Given the description of an element on the screen output the (x, y) to click on. 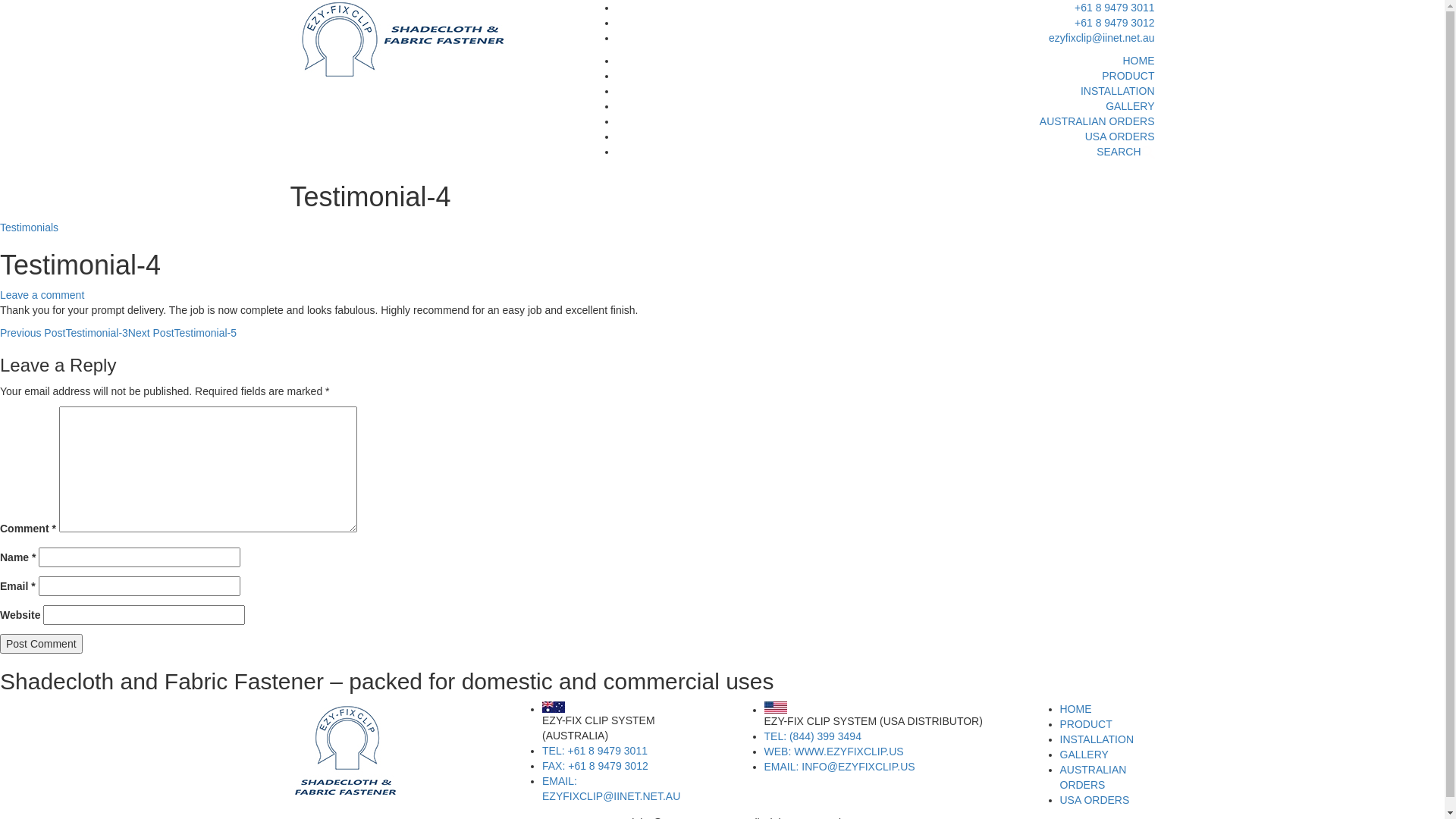
AUSTRALIAN ORDERS Element type: text (1096, 121)
PRODUCT Element type: text (1086, 724)
INSTALLATION Element type: text (1097, 739)
SEARCH Element type: text (1125, 151)
TEL: (844) 399 3494 Element type: text (812, 736)
INSTALLATION Element type: text (1117, 90)
HOME Element type: text (1076, 708)
EMAIL: EZYFIXCLIP@IINET.NET.AU Element type: text (611, 788)
GALLERY Element type: text (1129, 106)
Post Comment Element type: text (41, 643)
Next PostTestimonial-5 Element type: text (182, 332)
+61 8 9479 3012 Element type: text (1114, 22)
HOME Element type: text (1138, 60)
Previous PostTestimonial-3 Element type: text (64, 332)
USA ORDERS Element type: text (1094, 799)
Testimonials Element type: text (29, 227)
Leave a comment Element type: text (42, 294)
ezyfixclip@iinet.net.au Element type: text (1101, 37)
+61 8 9479 3011 Element type: text (1114, 7)
EMAIL: INFO@EZYFIXCLIP.US Element type: text (839, 766)
PRODUCT Element type: text (1127, 75)
USA ORDERS Element type: text (1119, 136)
AUSTRALIAN ORDERS Element type: text (1093, 776)
TEL: +61 8 9479 3011 Element type: text (594, 750)
WEB: WWW.EZYFIXCLIP.US Element type: text (833, 751)
FAX: +61 8 9479 3012 Element type: text (595, 765)
GALLERY Element type: text (1084, 754)
